Given the description of an element on the screen output the (x, y) to click on. 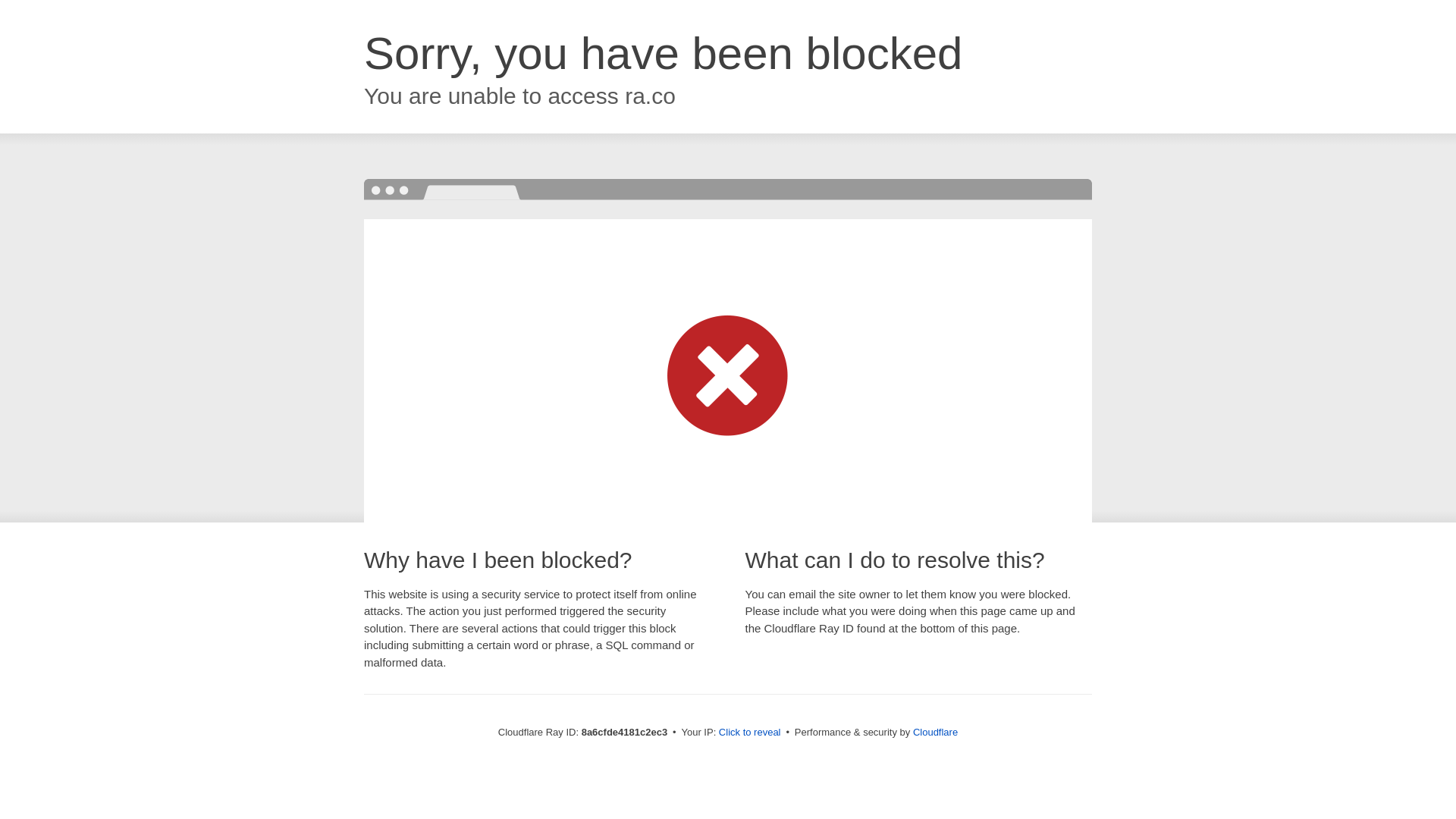
Click to reveal (749, 732)
Cloudflare (935, 731)
